Given the description of an element on the screen output the (x, y) to click on. 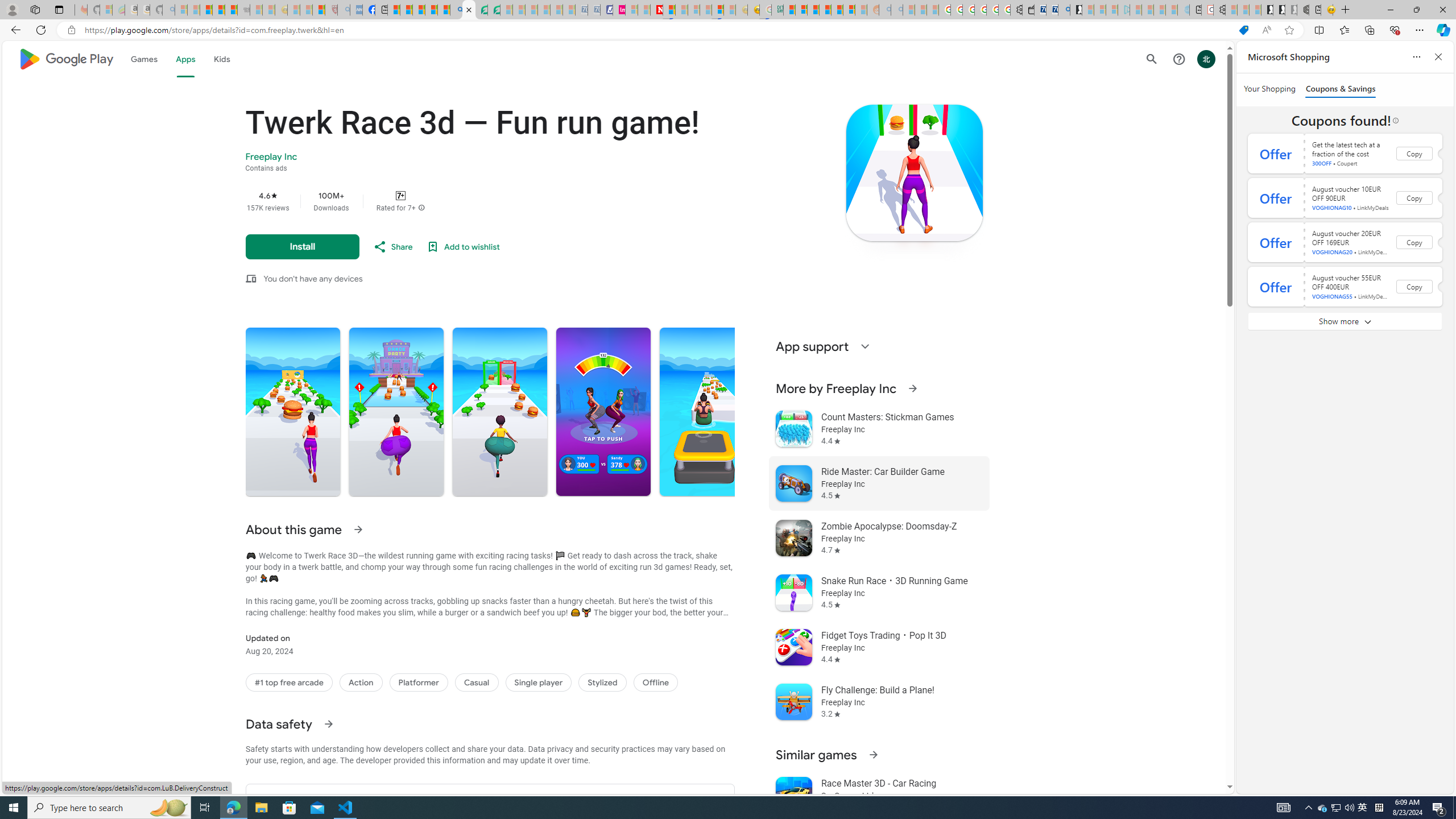
Play Free Online Games | Games from Microsoft Start (1267, 9)
Close tab (468, 9)
NCL Adult Asthma Inhaler Choice Guideline - Sleeping (355, 9)
Favorites (1344, 29)
Home | Sky Blue Bikes - Sky Blue Bikes - Sleeping (1182, 9)
Address and search bar (658, 29)
Close (1442, 9)
App bar (728, 29)
Minimize (1390, 9)
